Given the description of an element on the screen output the (x, y) to click on. 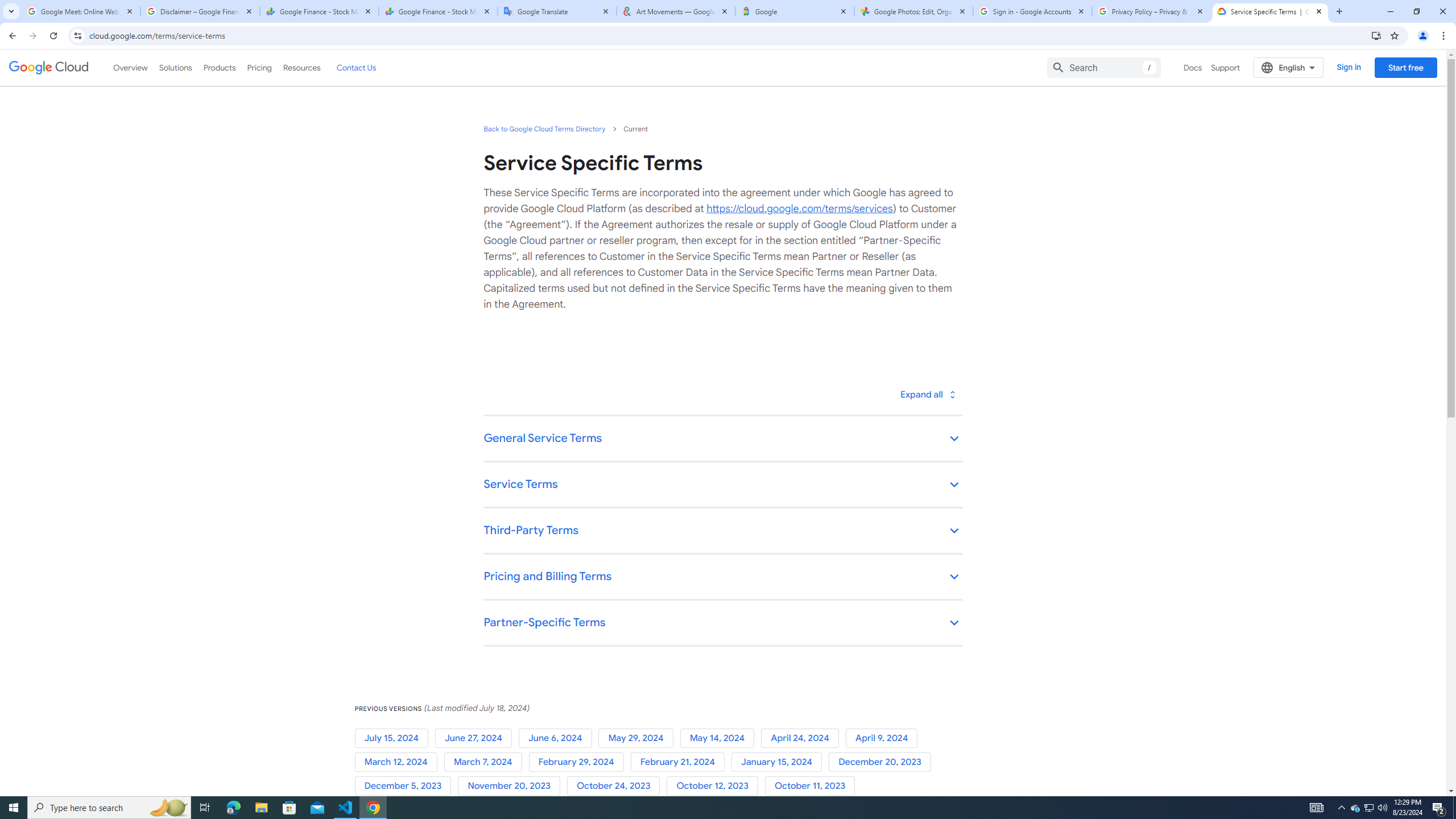
Support (1225, 67)
October 11, 2023 (812, 786)
Pricing and Billing Terms keyboard_arrow_down (722, 577)
Address and search bar (726, 35)
Google Translate (556, 11)
November 20, 2023 (511, 786)
System (6, 6)
Overview (130, 67)
March 12, 2024 (398, 761)
English (1288, 67)
Reload (52, 35)
June 6, 2024 (558, 737)
